Given the description of an element on the screen output the (x, y) to click on. 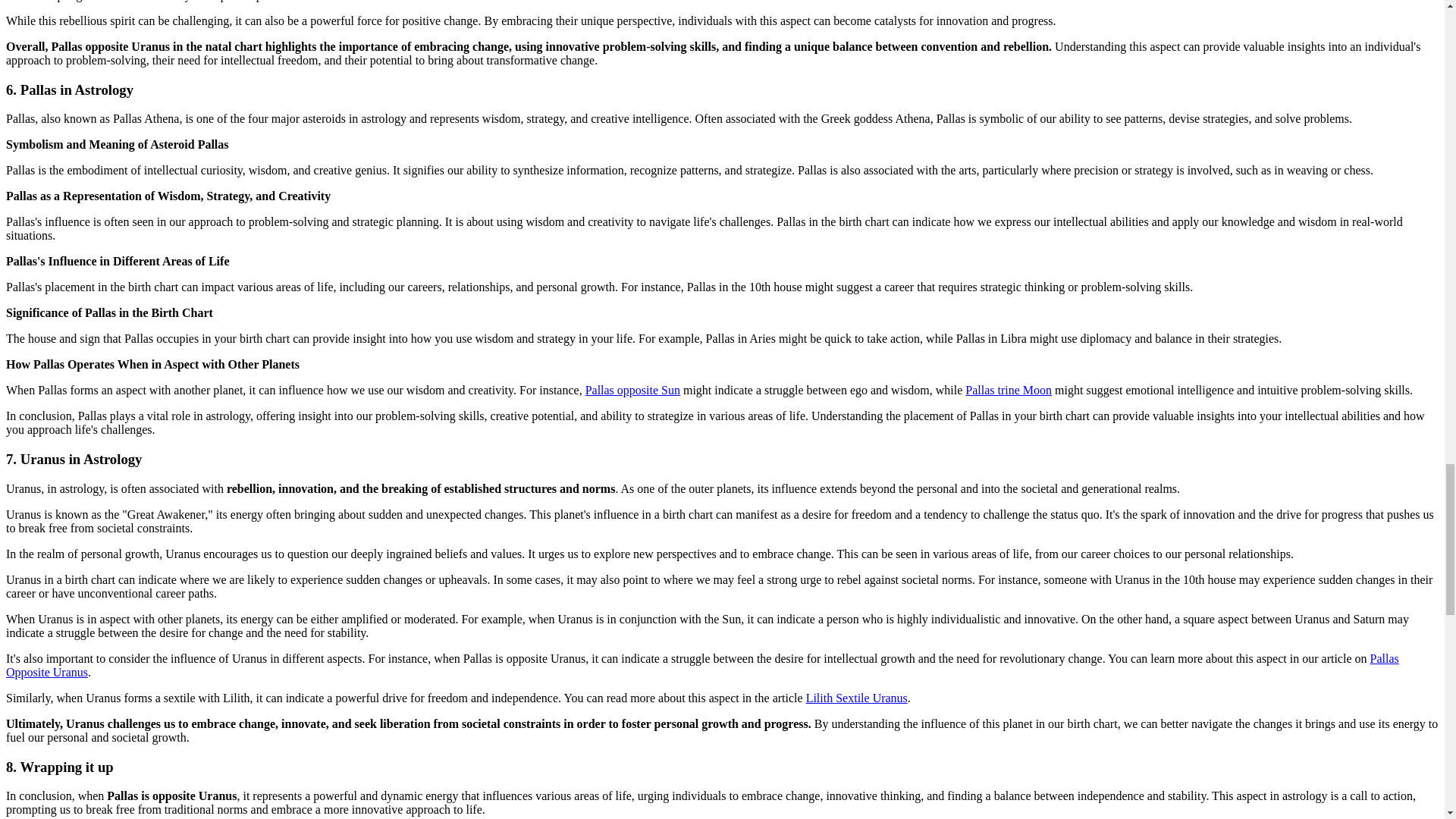
Lilith Sextile Uranus (856, 697)
Pallas opposite Sun (632, 390)
Pallas trine Moon (1008, 390)
Pallas Opposite Uranus (702, 664)
